Given the description of an element on the screen output the (x, y) to click on. 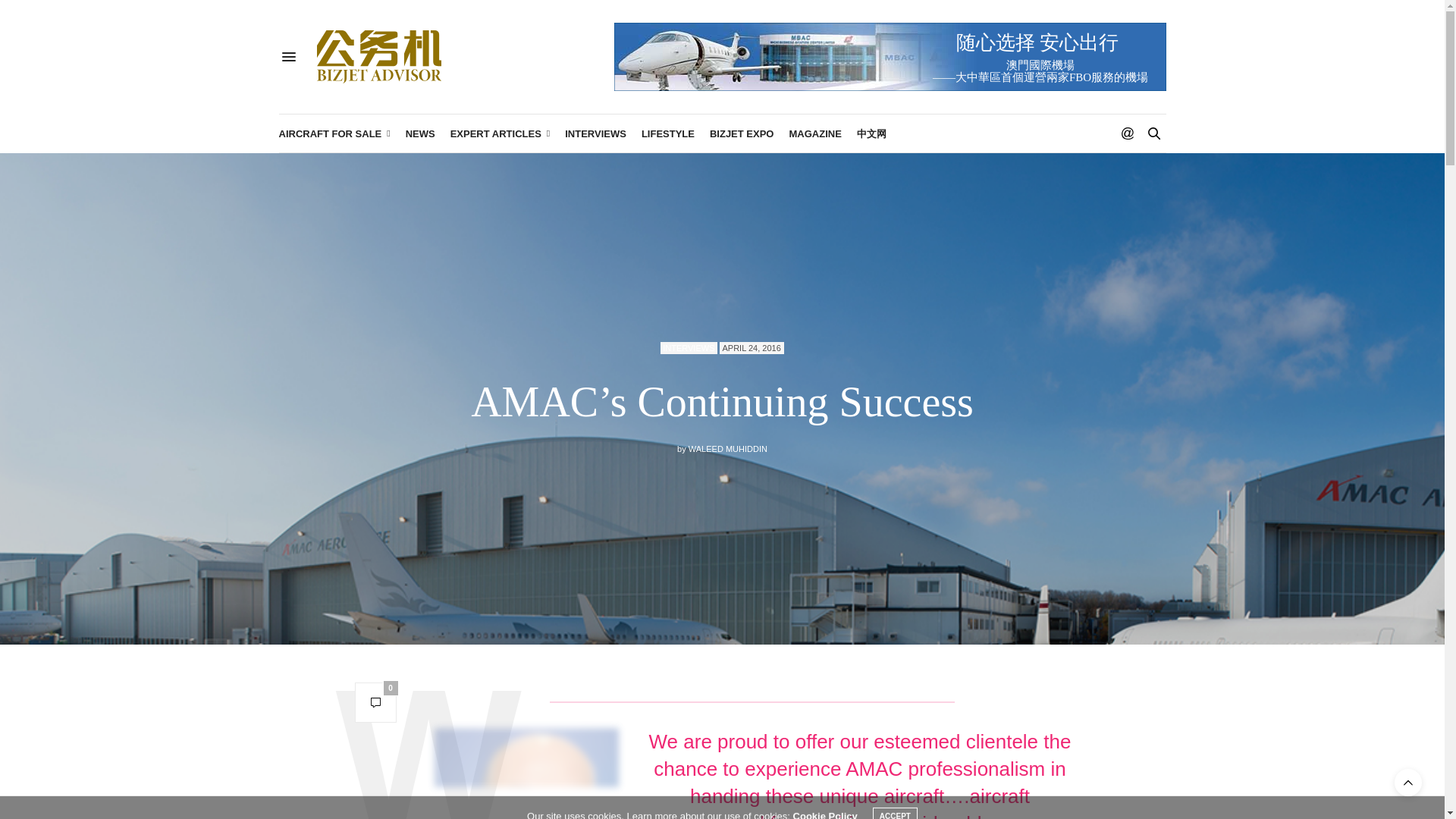
BIZJET EXPO (742, 133)
EXPERT ARTICLES (499, 133)
INTERVIEWS (688, 347)
BizJet Advisor (379, 56)
AIRCRAFT FOR SALE (334, 133)
MAGAZINE (815, 133)
Scroll To Top (1408, 782)
INTERVIEWS (595, 133)
LIFESTYLE (668, 133)
Posts by Waleed Muhiddin (727, 448)
